Given the description of an element on the screen output the (x, y) to click on. 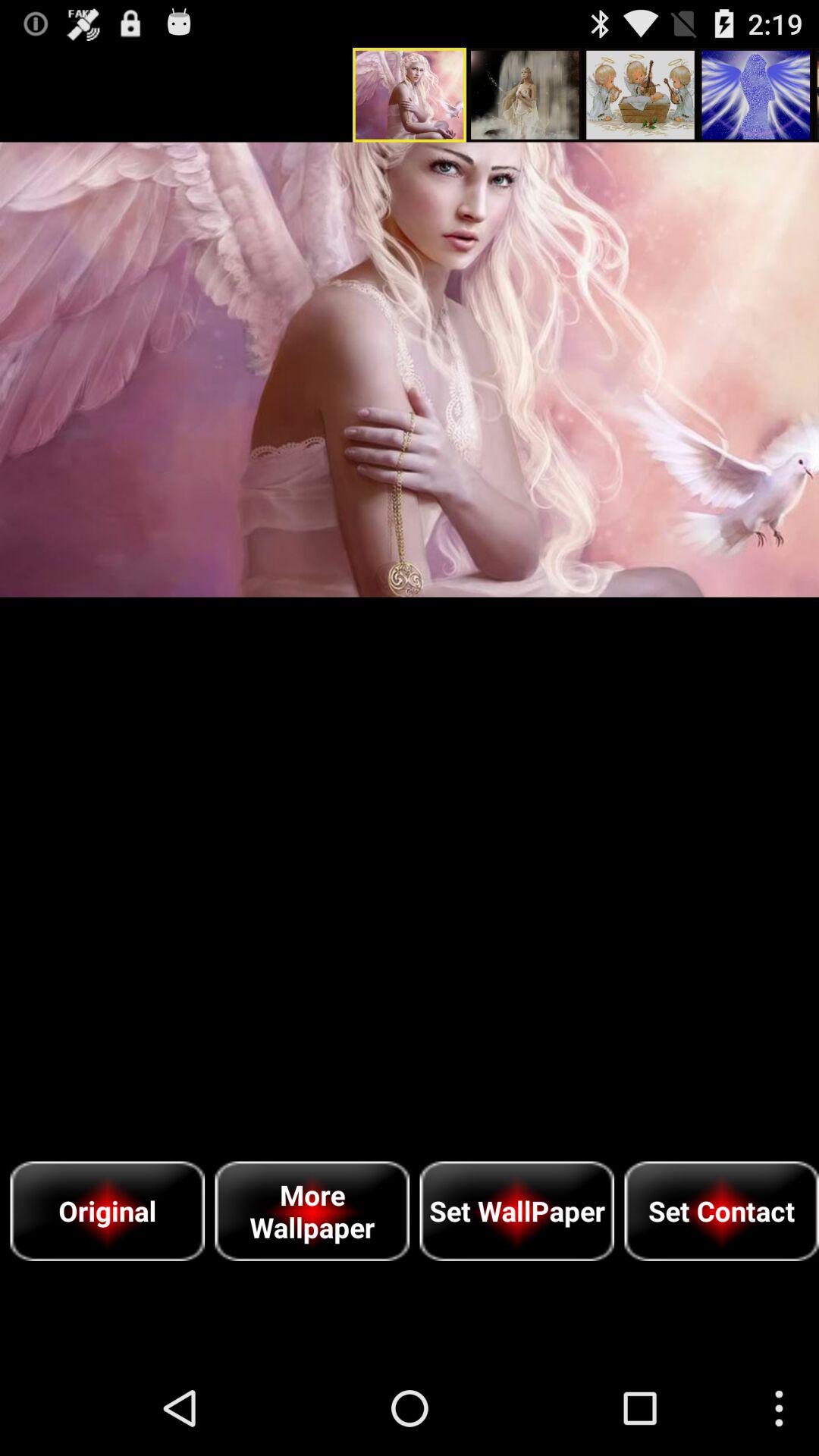
press the item to the left of the set wallpaper item (311, 1210)
